Given the description of an element on the screen output the (x, y) to click on. 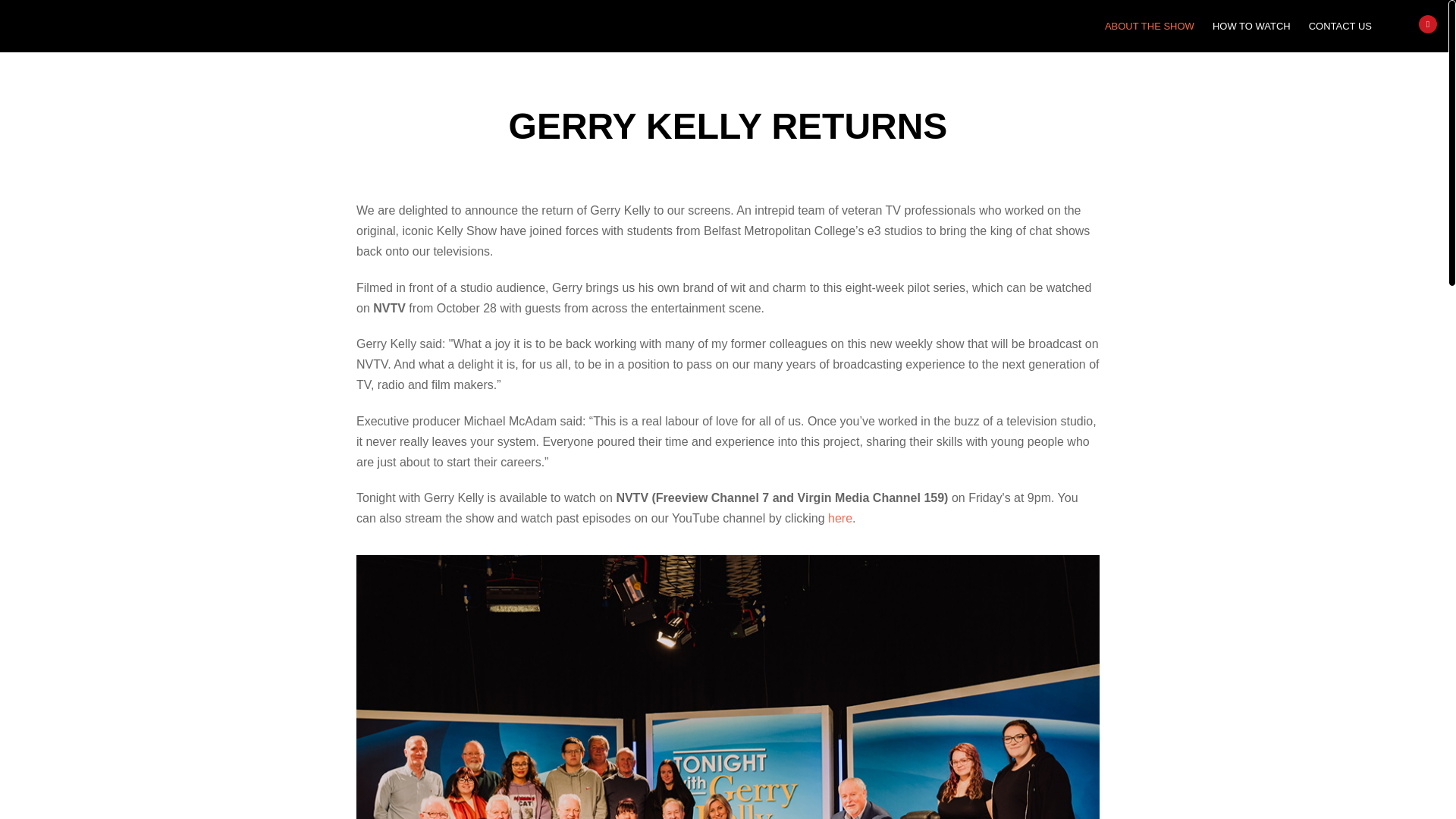
here (839, 522)
ABOUT THE SHOW (1149, 26)
Youtube (1427, 24)
HOW TO WATCH (1251, 26)
CONTACT US (1339, 26)
